Given the description of an element on the screen output the (x, y) to click on. 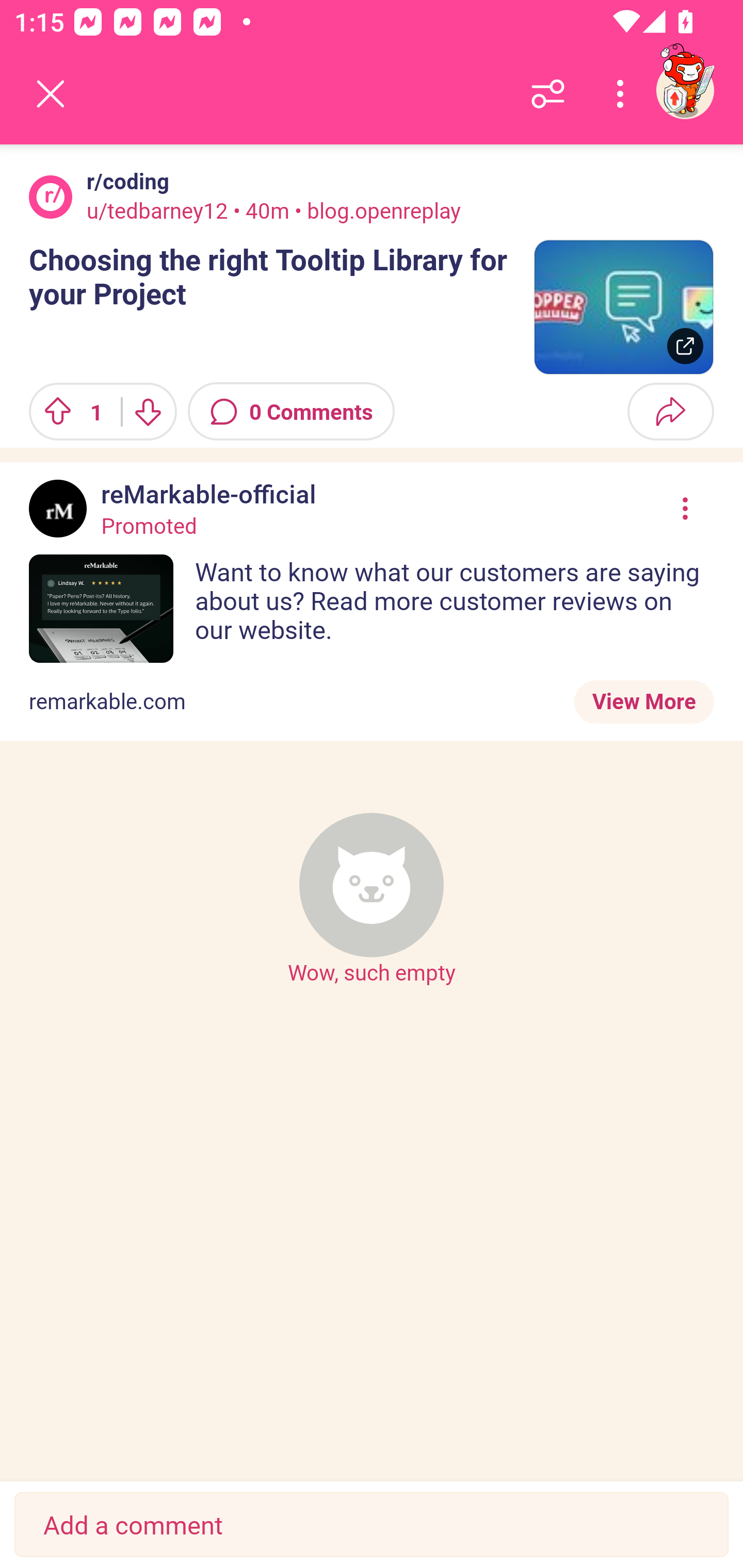
Back (50, 93)
TestAppium002 account (685, 90)
Sort comments (547, 93)
More options (623, 93)
r/coding (124, 181)
Avatar (50, 196)
u/tedbarney12 (157, 210)
 • blog.openreplay (375, 210)
Thumbnail image (623, 306)
Upvote 1 (67, 411)
Downvote (146, 411)
0 Comments (290, 411)
Share (670, 411)
Add a comment (371, 1524)
